Given the description of an element on the screen output the (x, y) to click on. 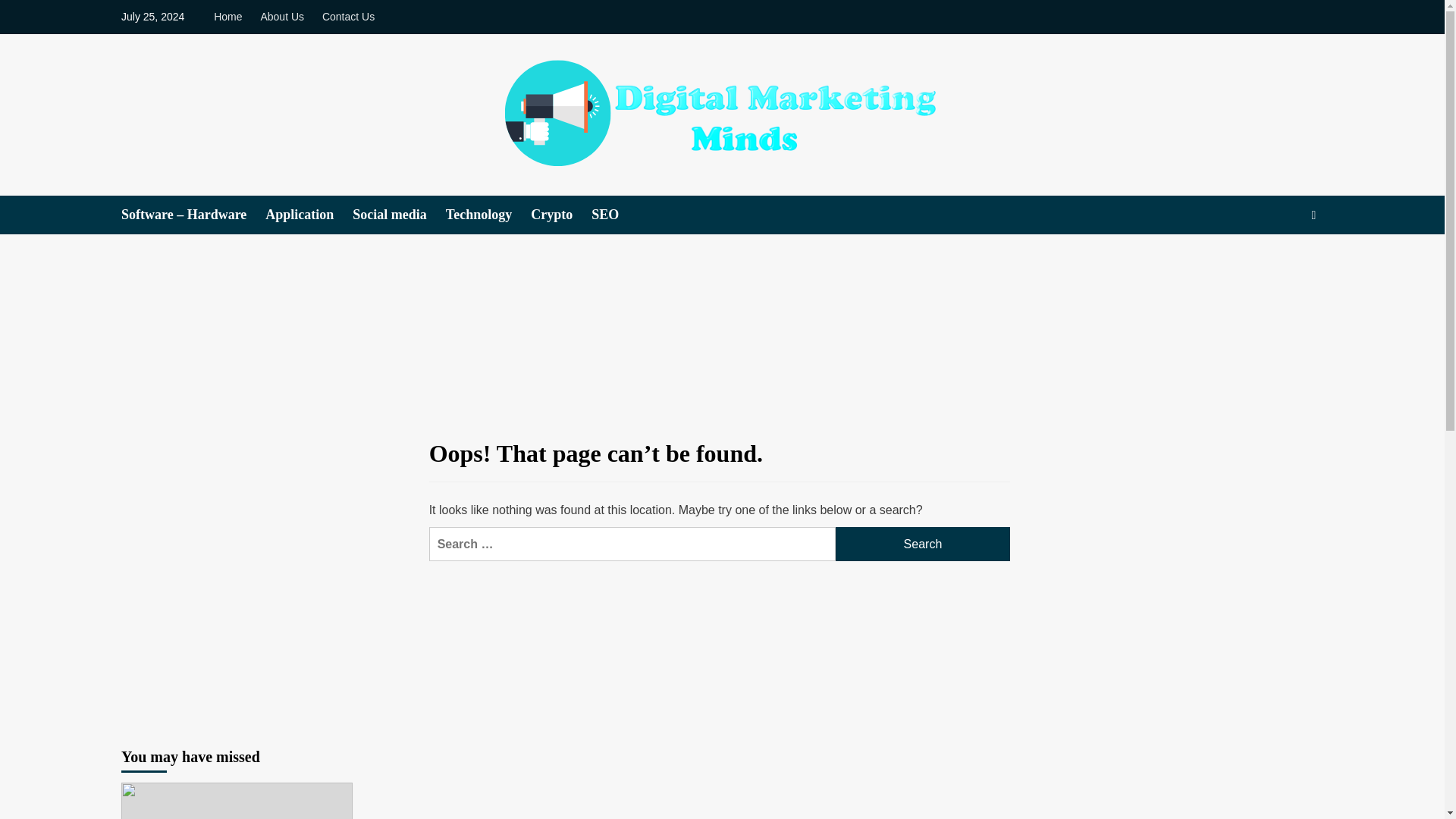
About Us (281, 17)
Search (922, 544)
Contact Us (347, 17)
Home (231, 17)
Search (1278, 261)
Search (922, 544)
Crypto (561, 214)
Application (308, 214)
Technology (488, 214)
Social media (398, 214)
SEO (614, 214)
Search (922, 544)
